Given the description of an element on the screen output the (x, y) to click on. 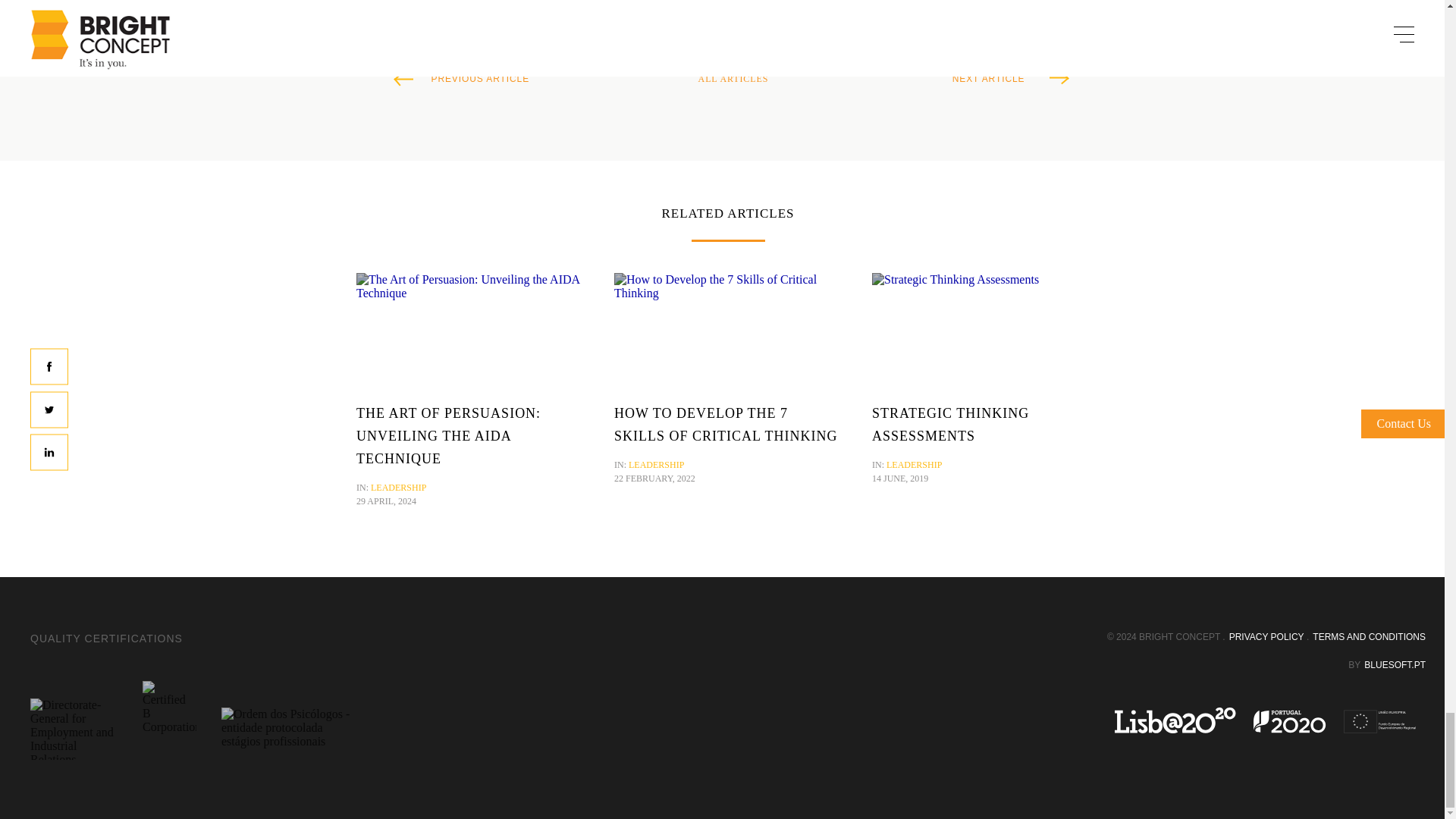
The Art of Persuasion: Unveiling the AIDA Technique (469, 286)
ALL ARTICLES (733, 78)
Support (1266, 720)
Directorate-General for Employment and Industrial Relations (73, 729)
Strategic Thinking Assessments (955, 279)
How to Develop the 7 Skills of Critical Thinking (727, 286)
PREVIOUS ARTICLE (466, 78)
